Given the description of an element on the screen output the (x, y) to click on. 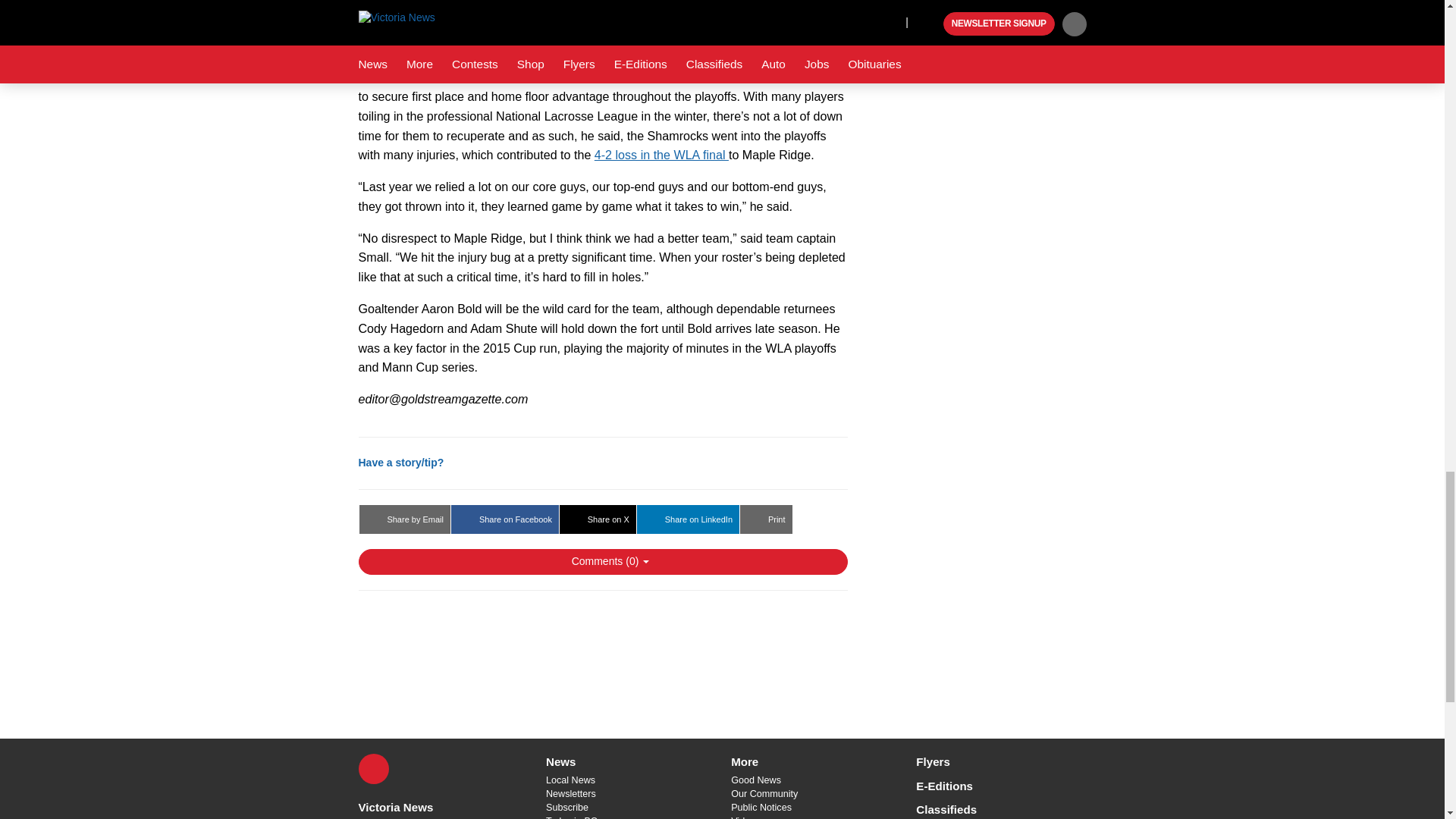
Show Comments (602, 561)
X (373, 768)
